Given the description of an element on the screen output the (x, y) to click on. 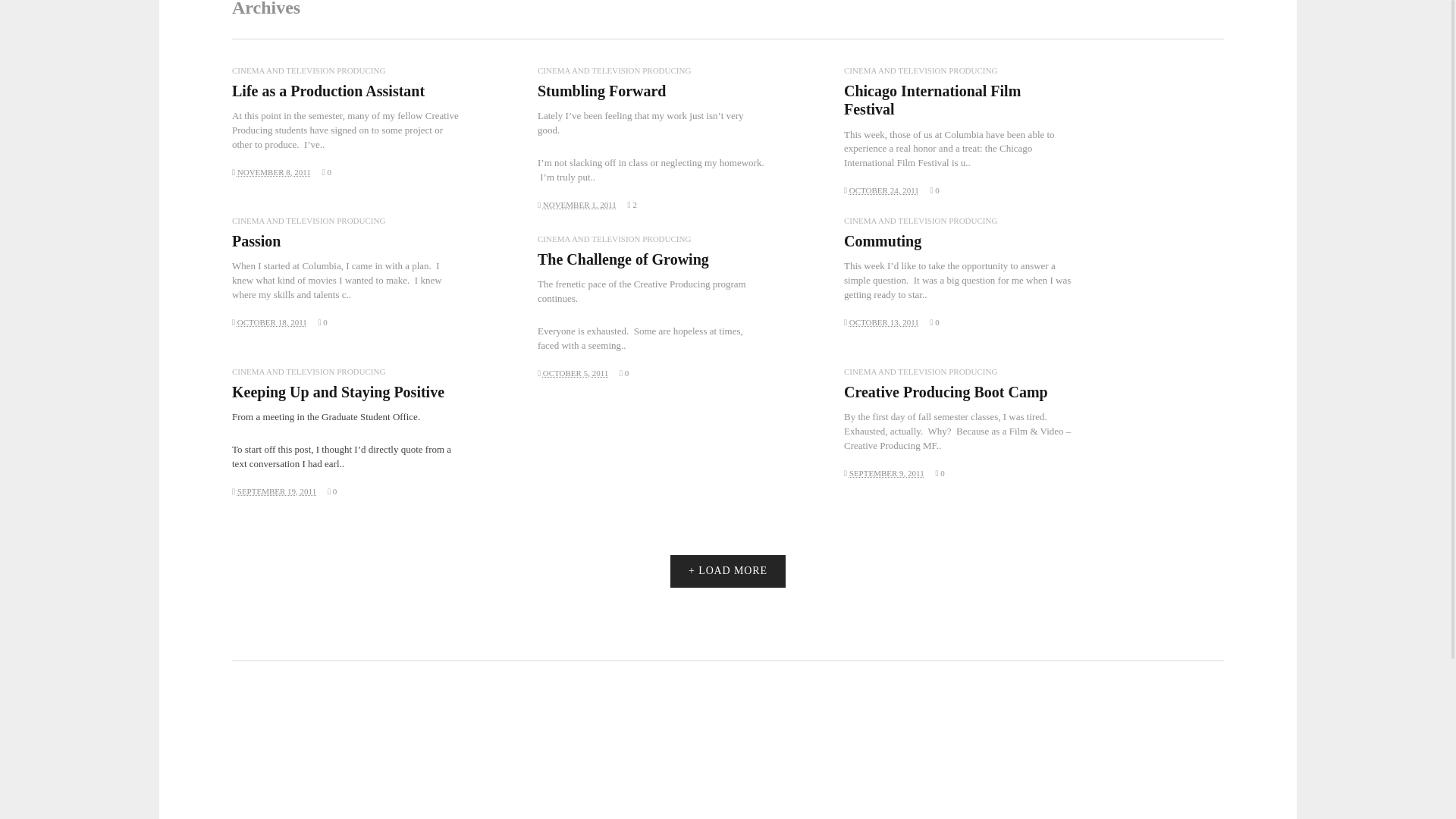
CINEMA AND TELEVISION PRODUCING (613, 239)
2011-10-18T08:00:36-05:00 (272, 321)
View all posts in Cinema and Television Producing (920, 221)
2011-11-01T15:00:58-05:00 (579, 204)
Commuting (882, 240)
CINEMA AND TELEVISION PRODUCING (308, 221)
2011-11-08T15:00:47-06:00 (274, 171)
Chicago International Film Festival (932, 99)
CINEMA AND TELEVISION PRODUCING (308, 70)
0 (934, 321)
View all posts in Cinema and Television Producing (920, 70)
0 (322, 321)
View all posts in Cinema and Television Producing (613, 70)
View all posts in Cinema and Television Producing (308, 70)
